Given the description of an element on the screen output the (x, y) to click on. 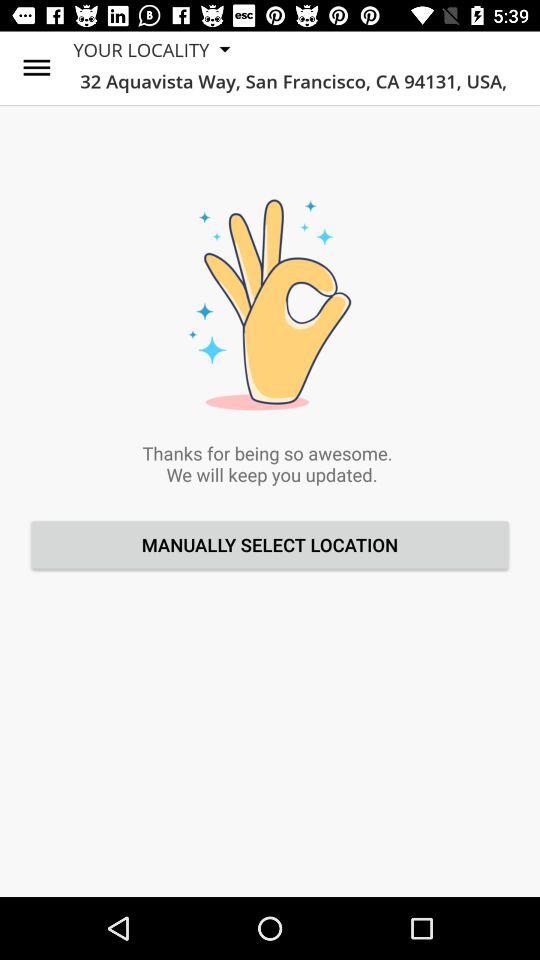
launch the item above manually select location item (36, 68)
